Given the description of an element on the screen output the (x, y) to click on. 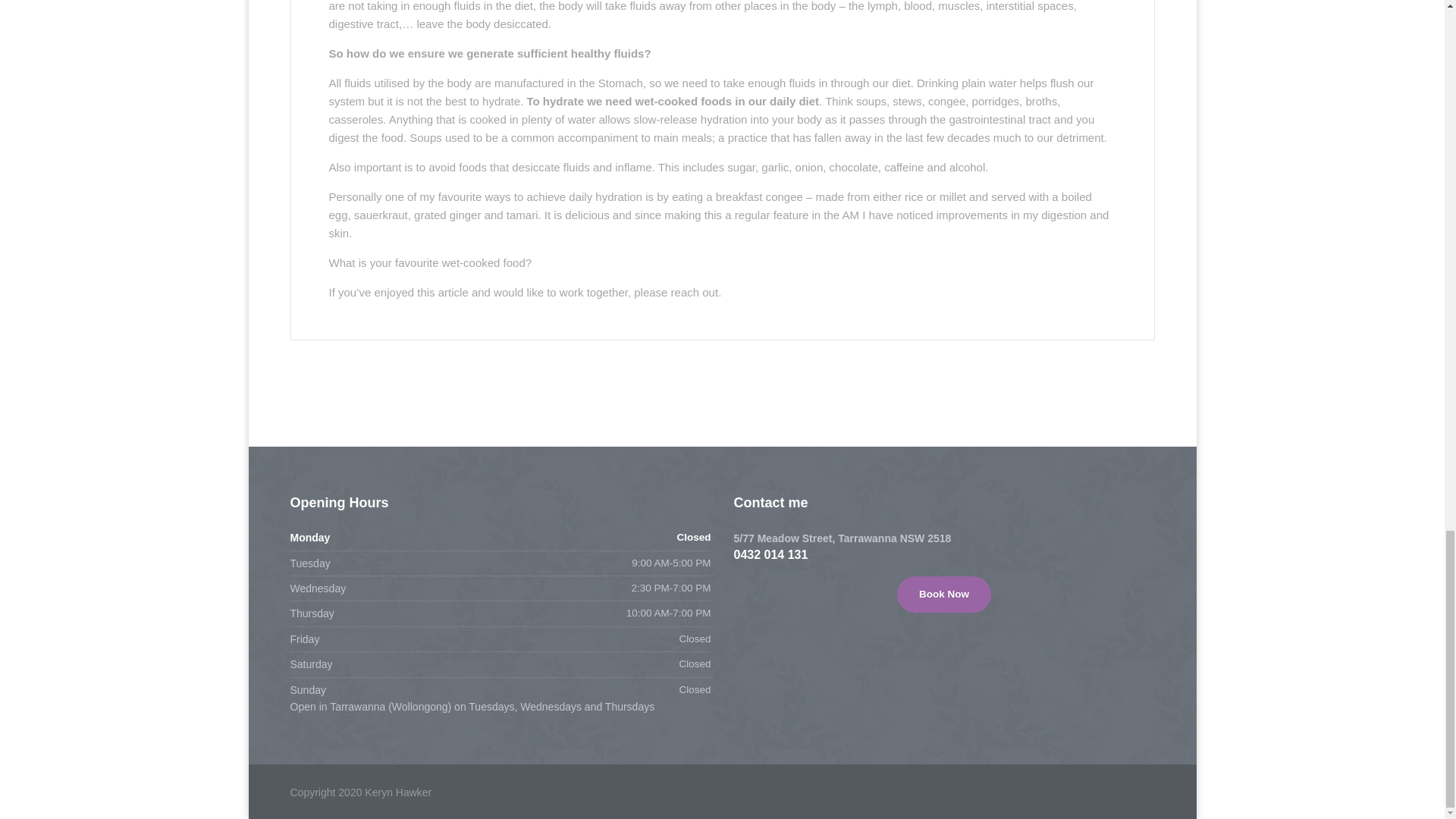
Book Now (943, 594)
